Given the description of an element on the screen output the (x, y) to click on. 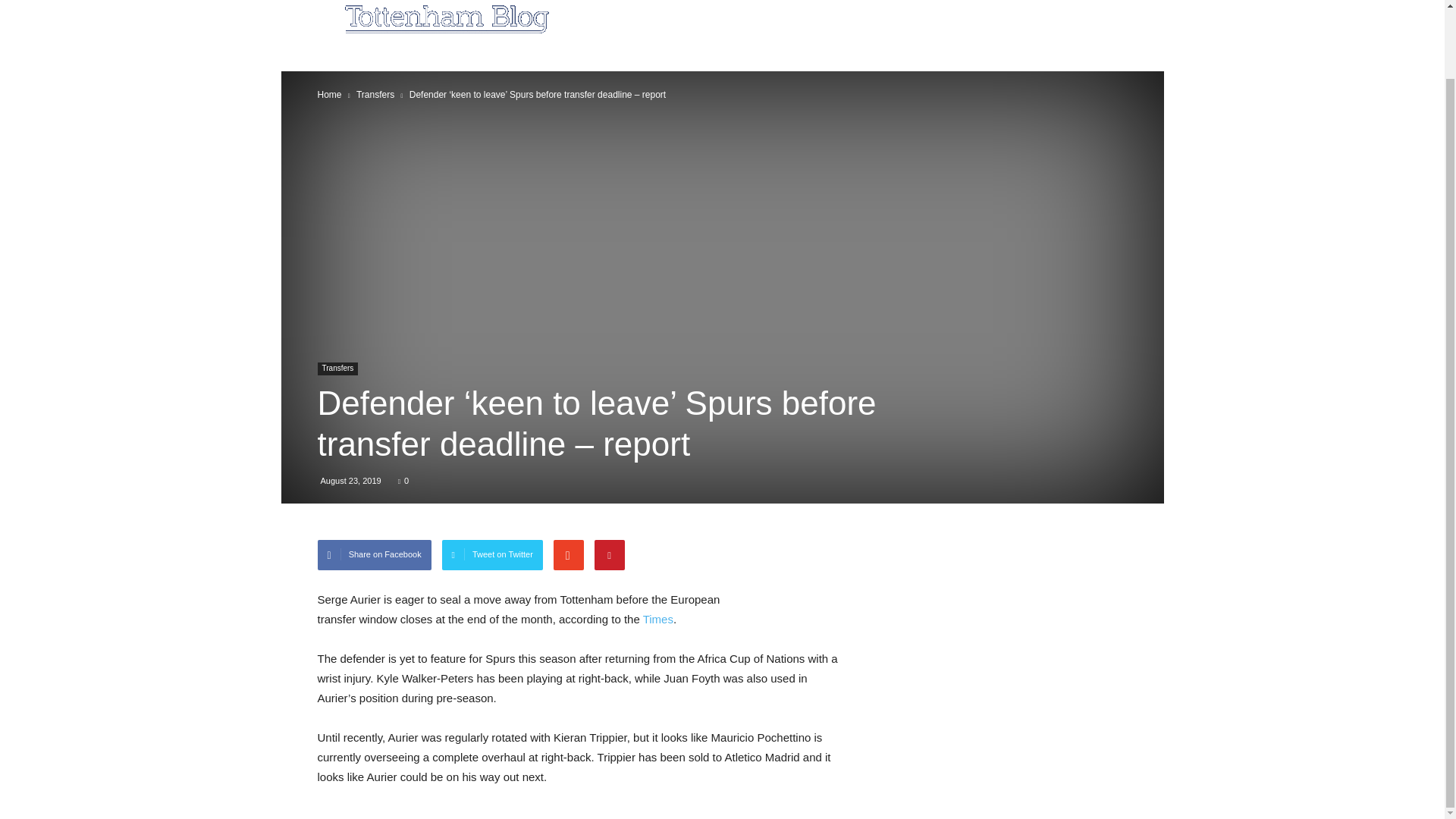
Home (328, 94)
Transfers (337, 368)
Transfers (375, 94)
Tweet on Twitter (492, 554)
0 (403, 480)
View all posts in Transfers (375, 94)
Share on Facebook (373, 554)
